Given the description of an element on the screen output the (x, y) to click on. 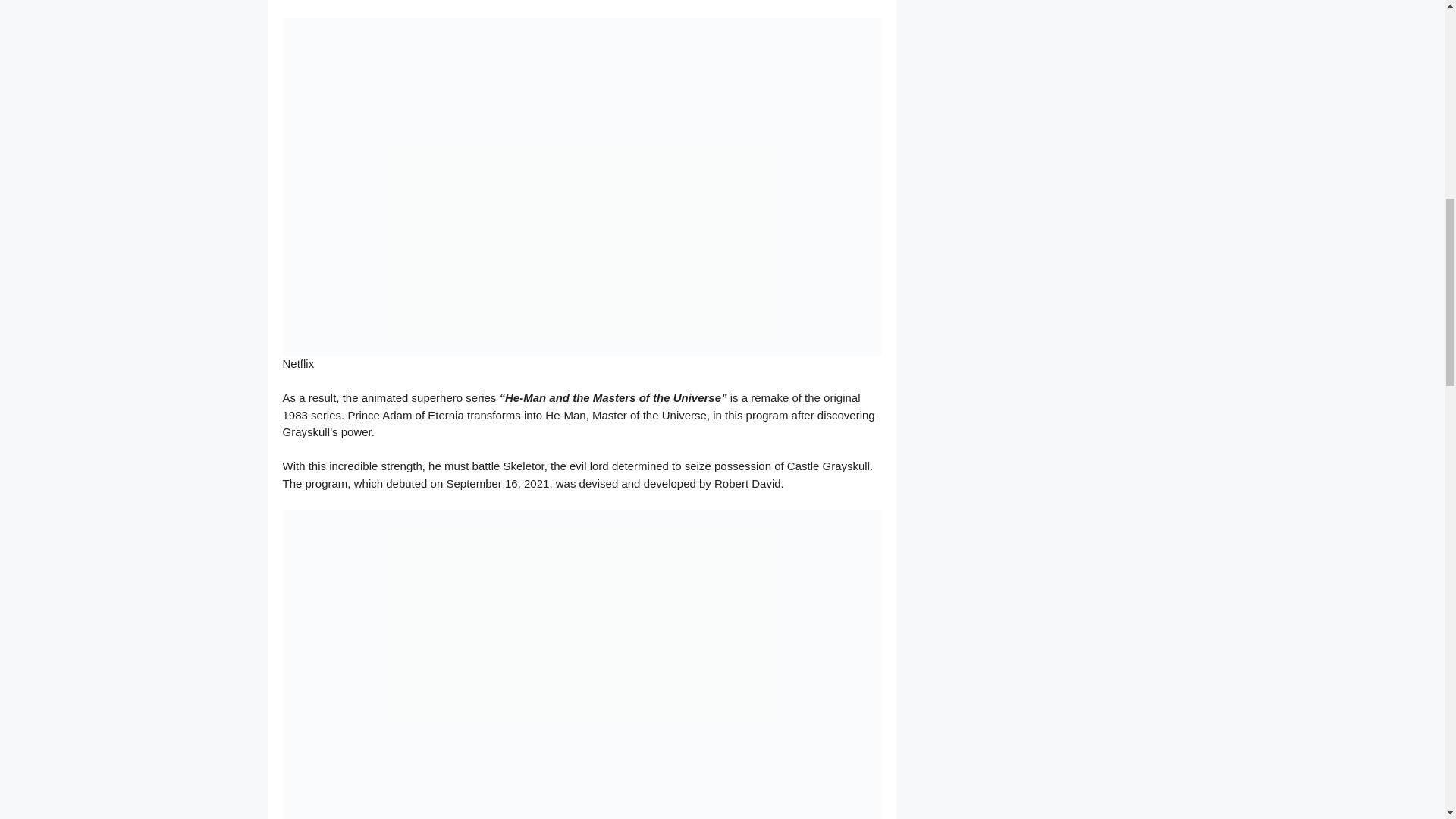
Scroll back to top (1406, 720)
